Given the description of an element on the screen output the (x, y) to click on. 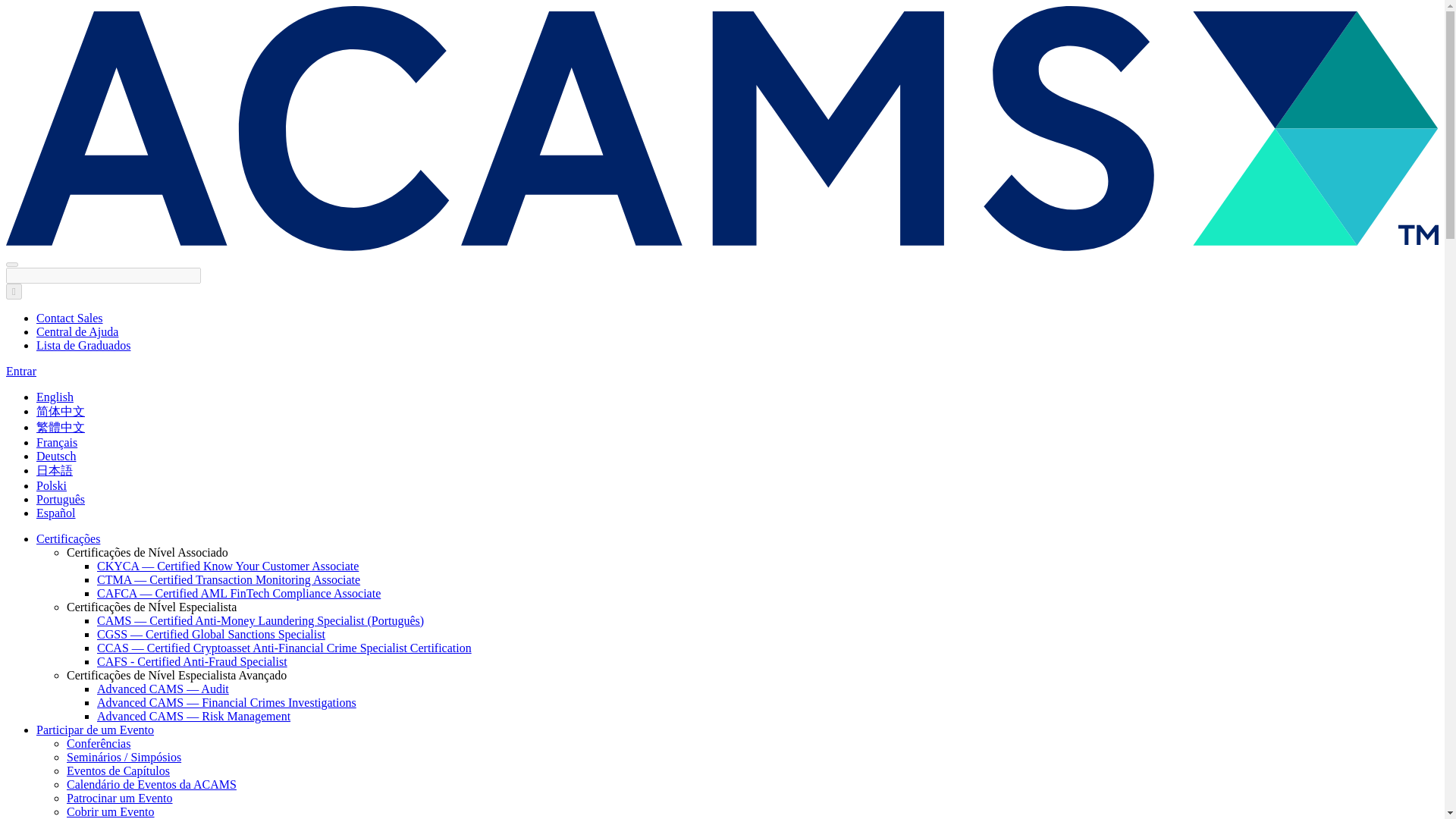
Cobrir um Evento (110, 811)
Lista de Graduados (83, 345)
Contact Sales (69, 318)
Participar de um Evento (95, 729)
Polski (51, 485)
Deutsch (55, 455)
CAFS - Certified Anti-Fraud Specialist (191, 661)
Central de Ajuda (76, 331)
Patrocinar um Evento (119, 797)
English (55, 396)
